Given the description of an element on the screen output the (x, y) to click on. 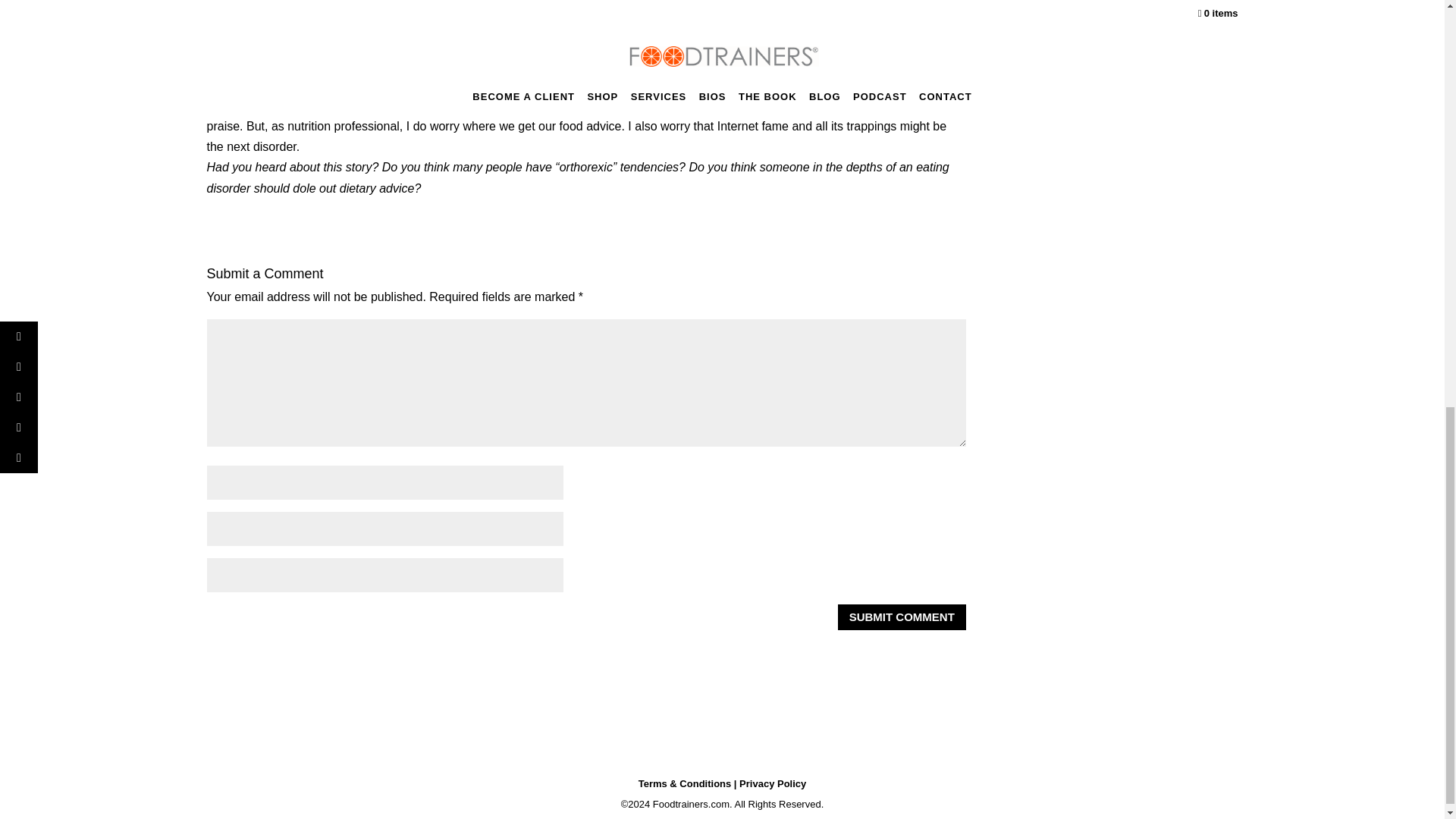
Submit Comment (902, 617)
Submit Comment (902, 617)
